Given the description of an element on the screen output the (x, y) to click on. 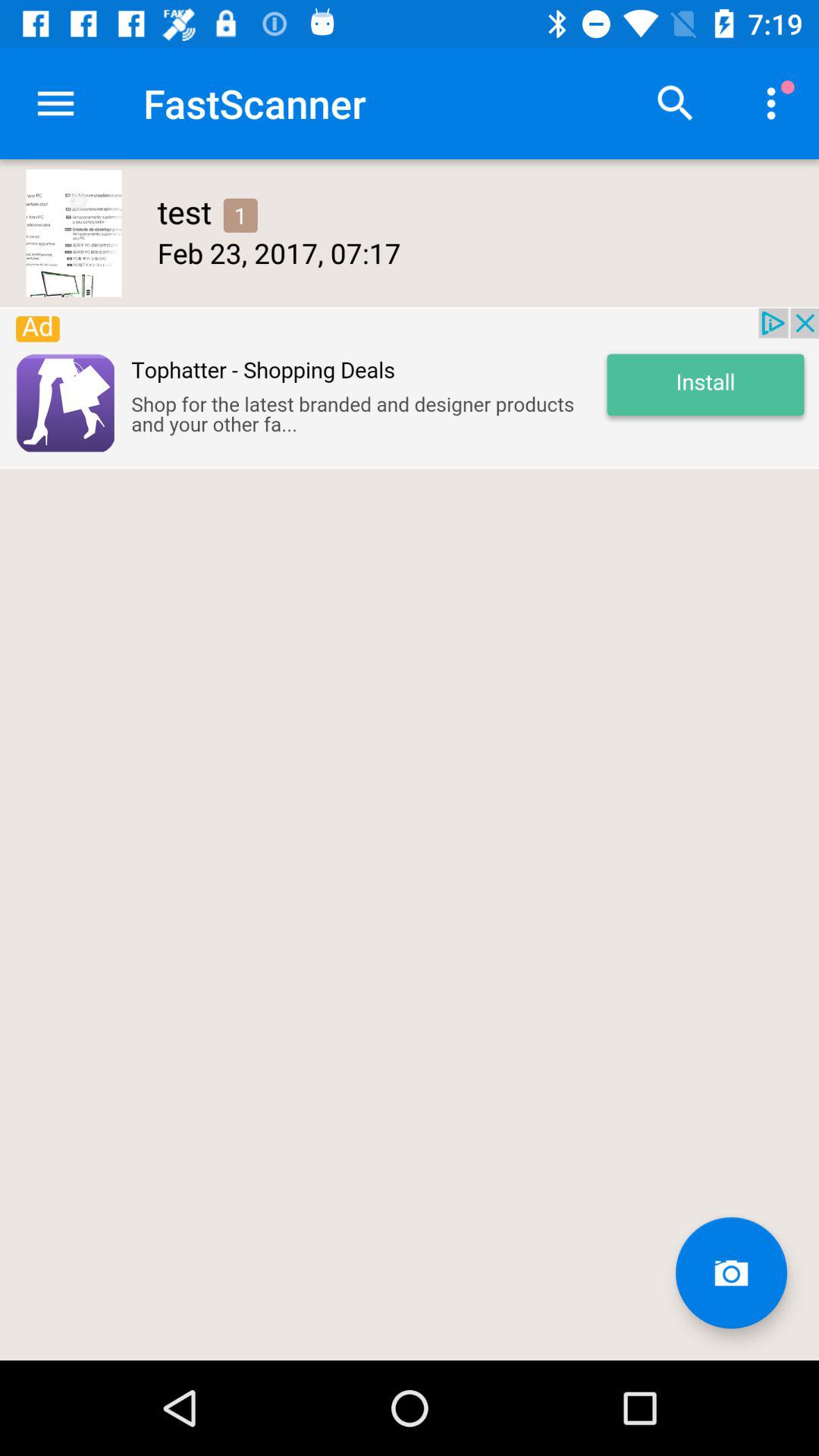
click to visit advertiser (409, 387)
